Given the description of an element on the screen output the (x, y) to click on. 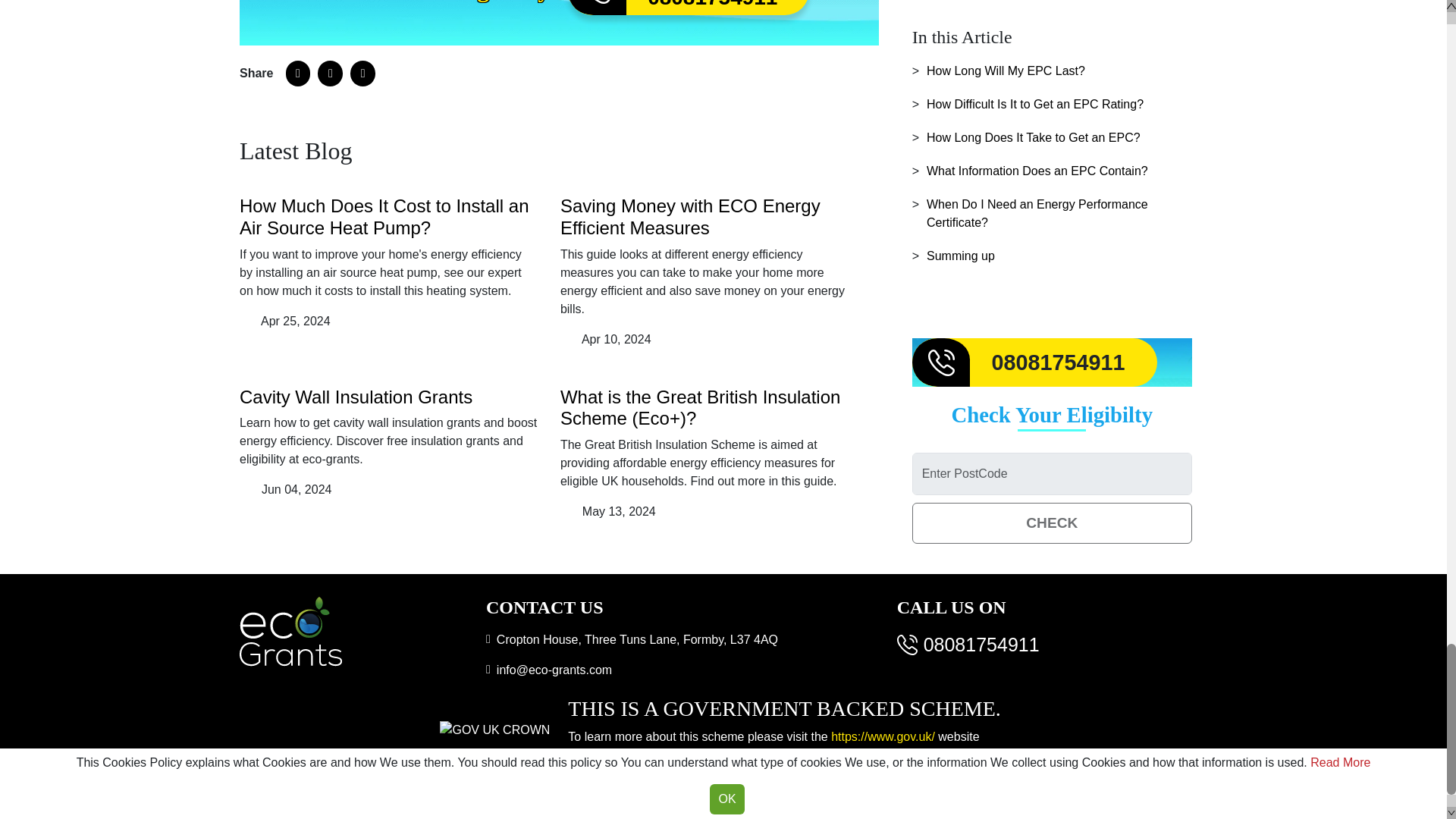
Cavity Wall Insulation Grants (355, 396)
How Much Does It Cost to Install an Air Source Heat Pump? (688, 7)
GOV UK CROWN (384, 216)
Saving Money with ECO Energy Efficient Measures (494, 730)
